Given the description of an element on the screen output the (x, y) to click on. 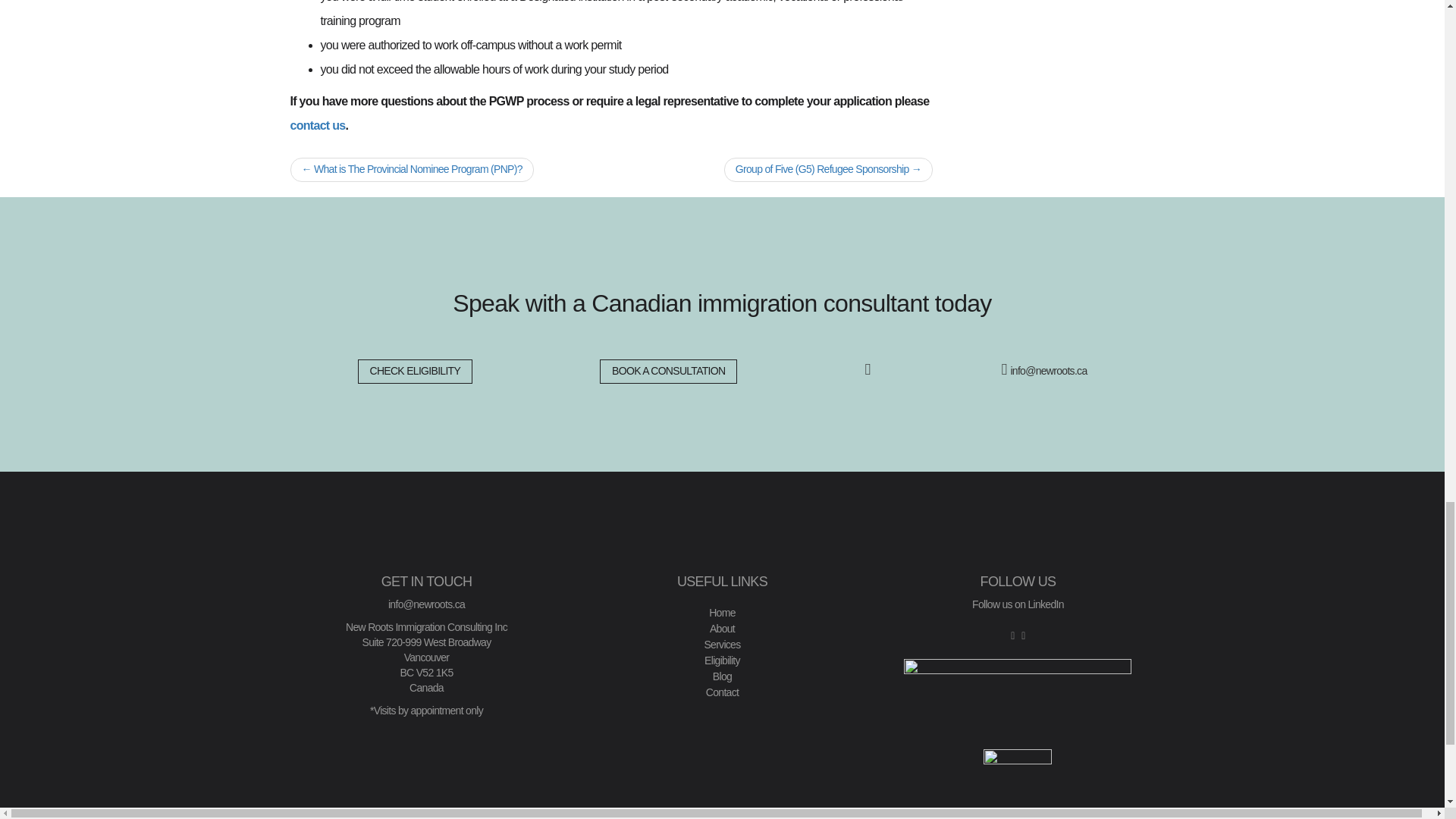
BOOK A CONSULTATION (667, 371)
contact us (317, 124)
CHECK ELIGIBILITY (415, 371)
